Given the description of an element on the screen output the (x, y) to click on. 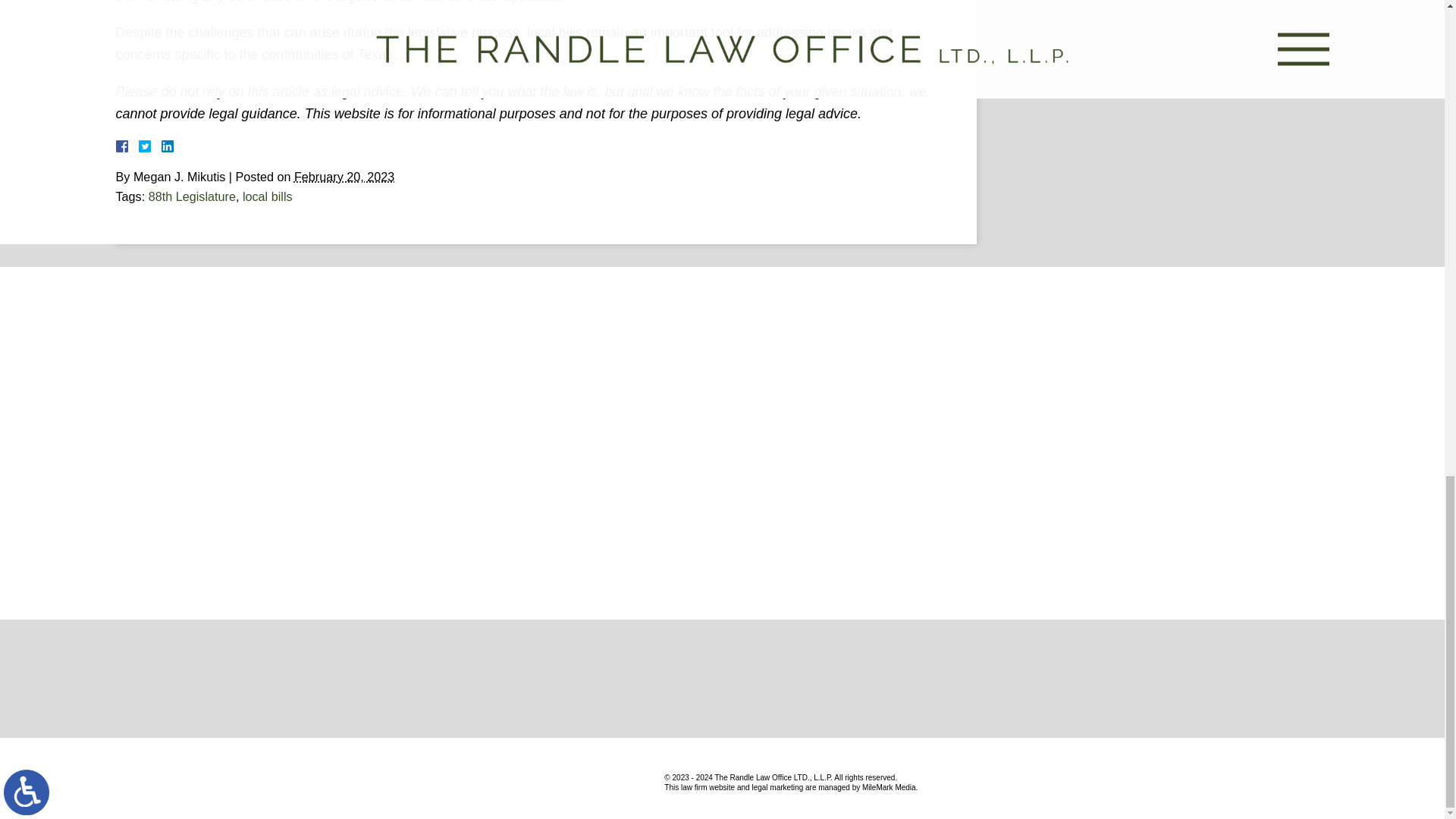
2023-02-20T13:31:58-0800 (344, 176)
88th Legislature (191, 196)
Twitter (149, 146)
local bills (267, 196)
Facebook (139, 146)
LinkedIn (160, 146)
